Given the description of an element on the screen output the (x, y) to click on. 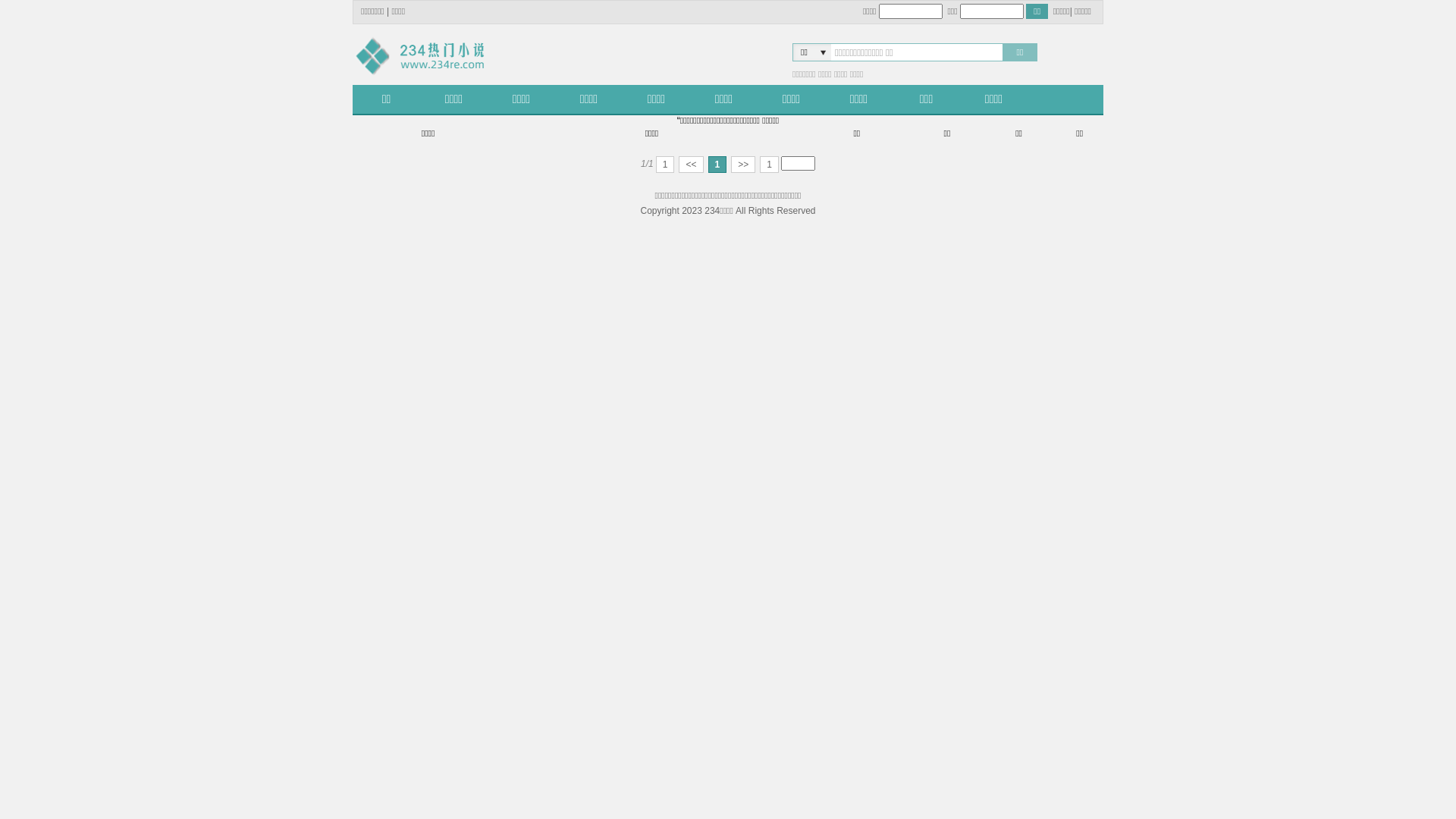
1 Element type: text (768, 164)
<< Element type: text (690, 164)
>> Element type: text (743, 164)
1 Element type: text (664, 164)
